Given the description of an element on the screen output the (x, y) to click on. 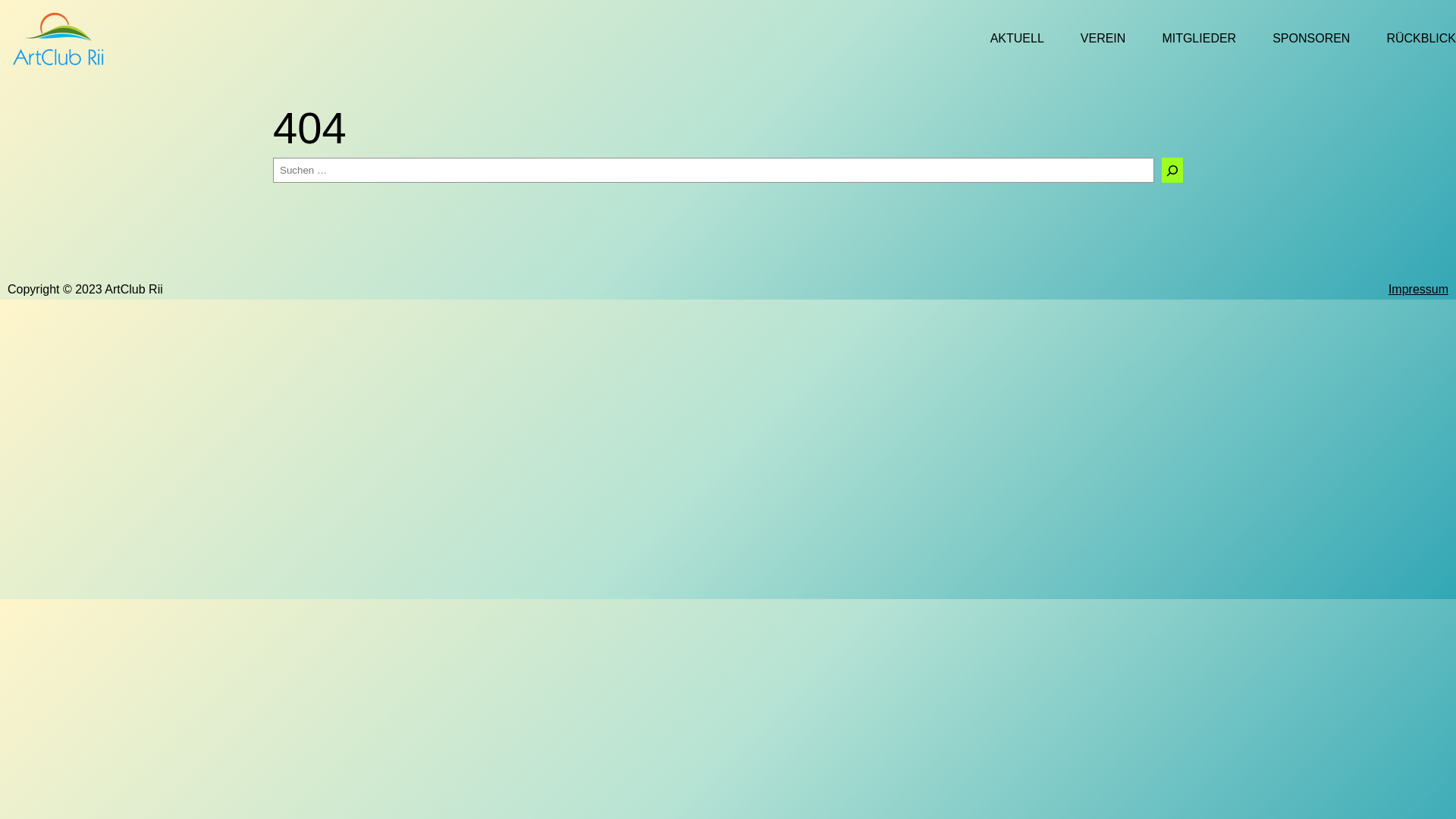
SPONSOREN Element type: text (1310, 38)
AKTUELL Element type: text (1017, 38)
VEREIN Element type: text (1103, 38)
MITGLIEDER Element type: text (1198, 38)
Impressum Element type: text (1418, 288)
